Given the description of an element on the screen output the (x, y) to click on. 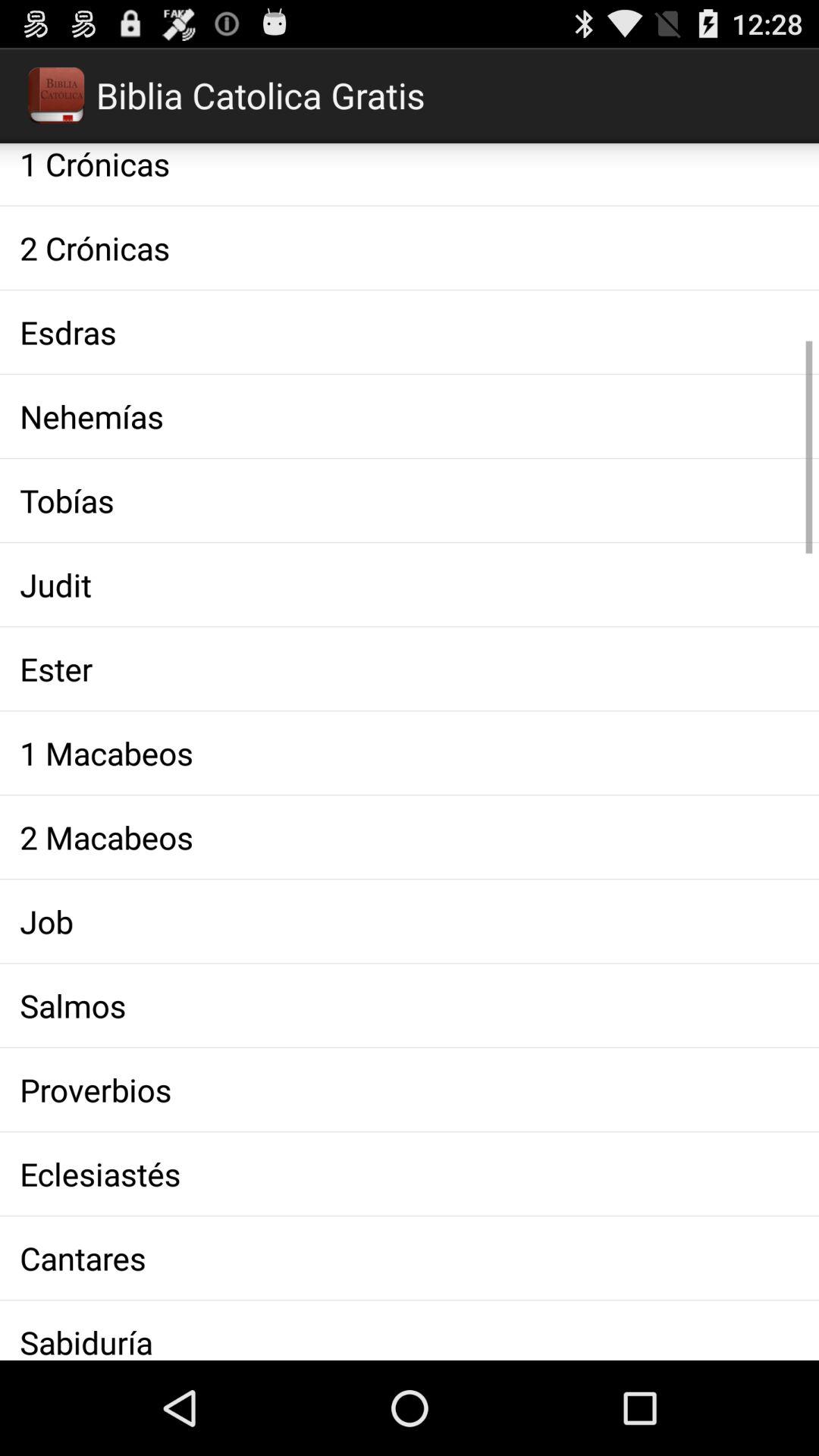
select the logo which is under notification bar (55, 95)
